Given the description of an element on the screen output the (x, y) to click on. 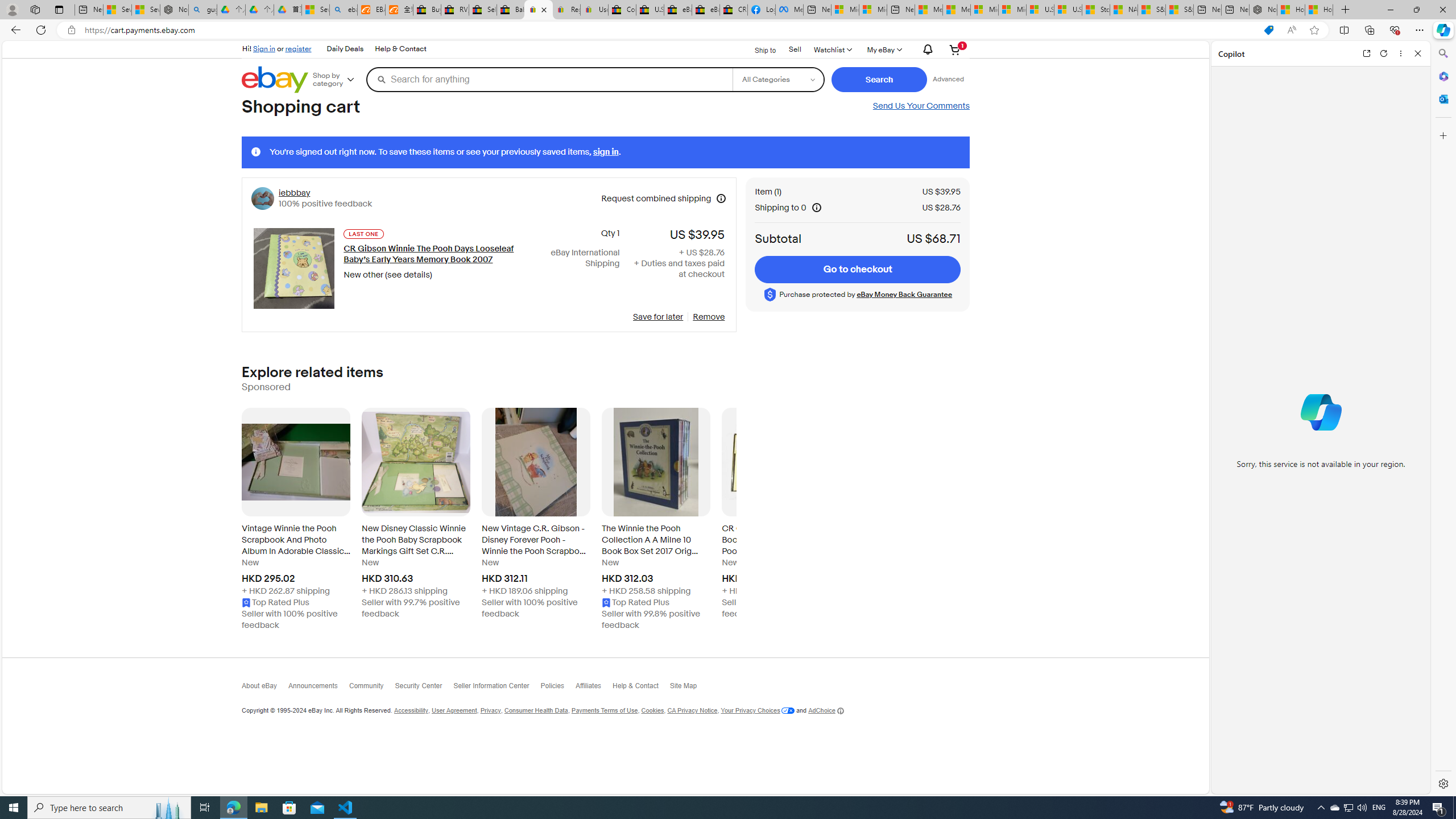
Ship to (758, 50)
Search for anything (549, 78)
Announcements (318, 688)
Consumer Health Data Privacy Policy - eBay Inc. (621, 9)
Go to the previous slide, Explore related items - Carousel (241, 521)
Ship to (758, 48)
Your shopping cart contains 1 item (955, 49)
Side bar (1443, 418)
S&P 500, Nasdaq end lower, weighed by Nvidia dip | Watch (1179, 9)
